Given the description of an element on the screen output the (x, y) to click on. 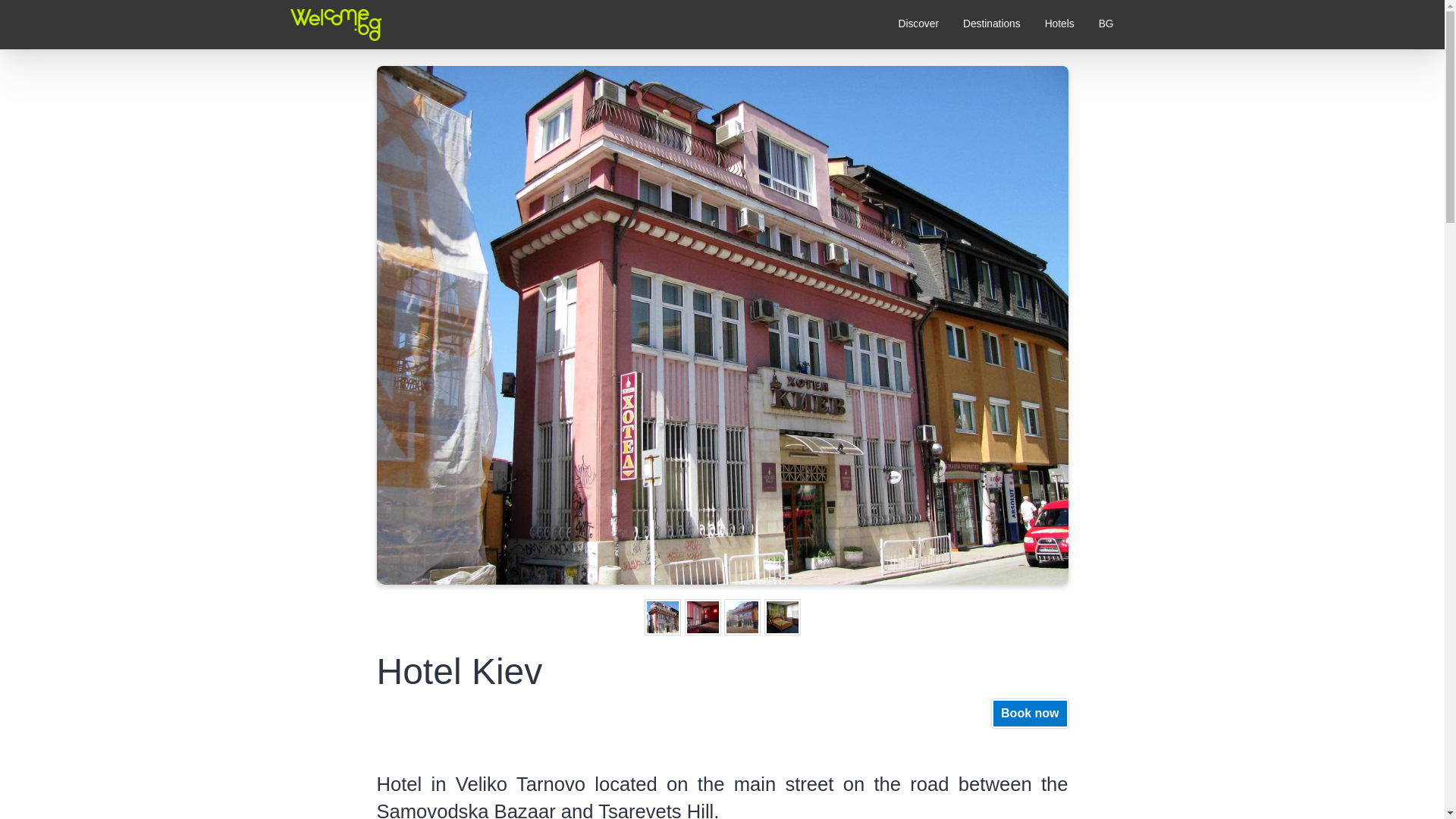
Hotels (1058, 24)
WELCOME.BG (330, 66)
Book now (1029, 713)
Destinations (991, 24)
Discover (917, 24)
